Given the description of an element on the screen output the (x, y) to click on. 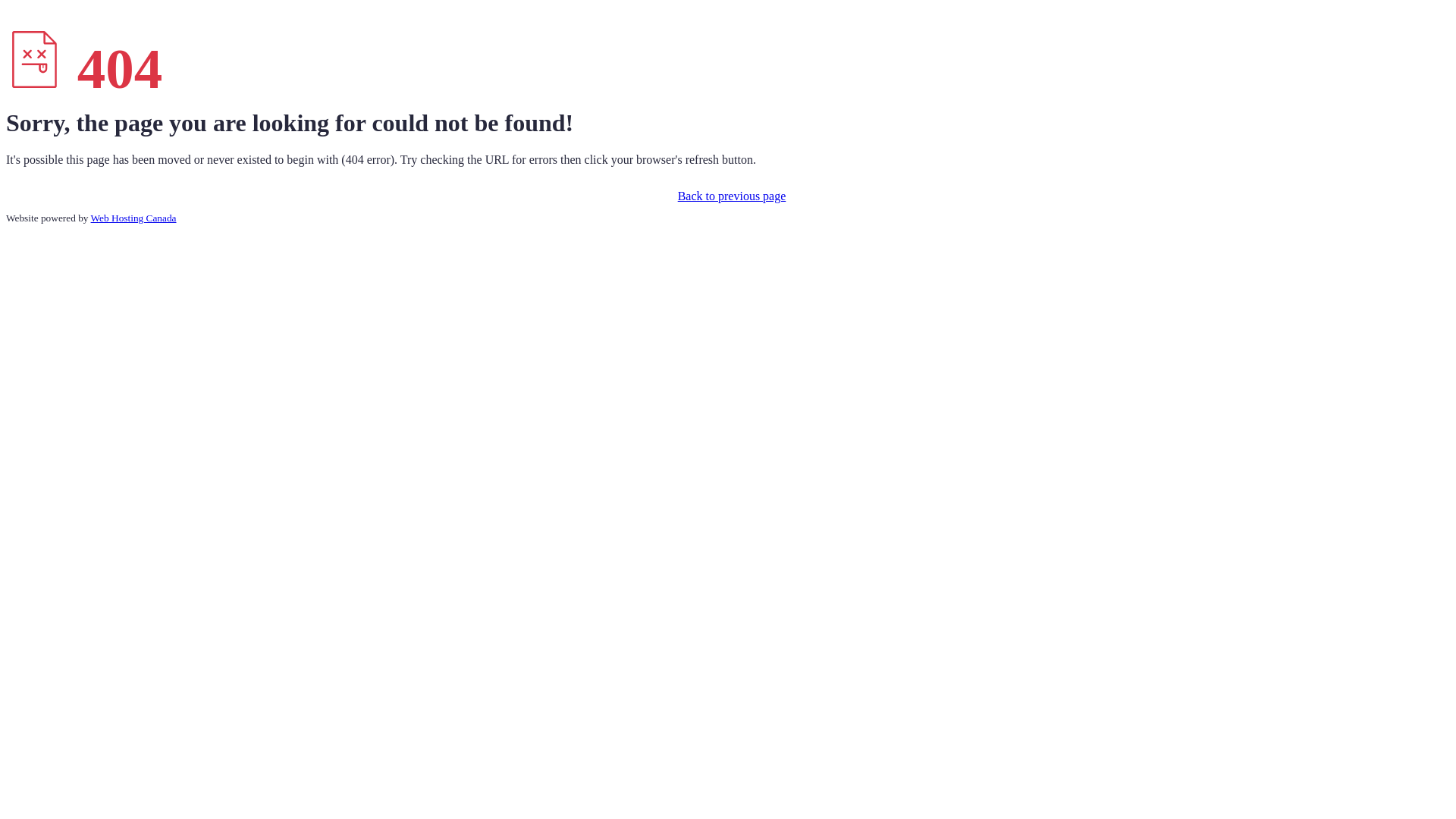
Web Hosting Canada Element type: text (133, 217)
Back to previous page Element type: text (728, 196)
